Given the description of an element on the screen output the (x, y) to click on. 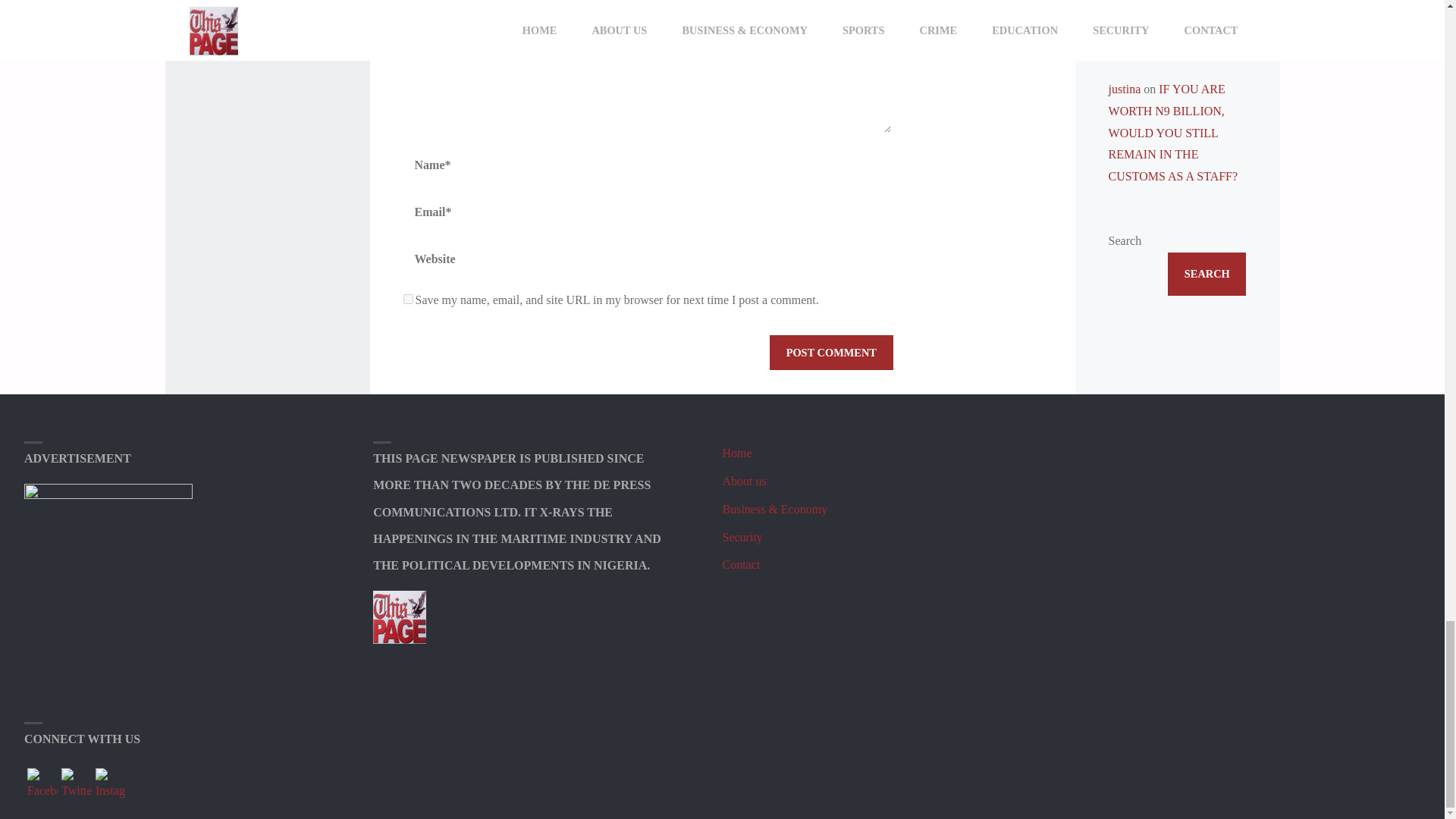
yes (408, 298)
Post Comment (831, 352)
Post Comment (831, 352)
